Given the description of an element on the screen output the (x, y) to click on. 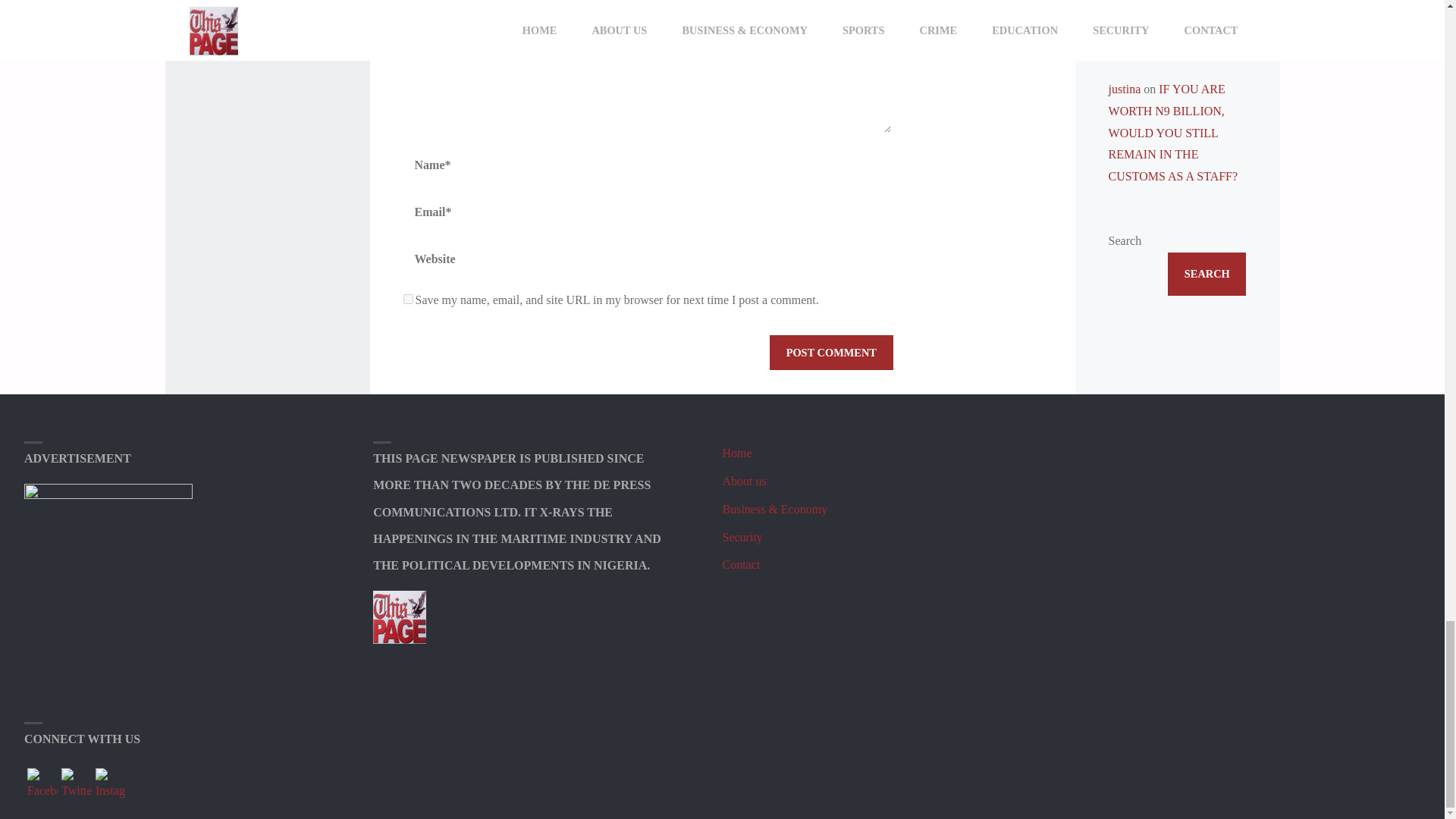
yes (408, 298)
Post Comment (831, 352)
Post Comment (831, 352)
